Given the description of an element on the screen output the (x, y) to click on. 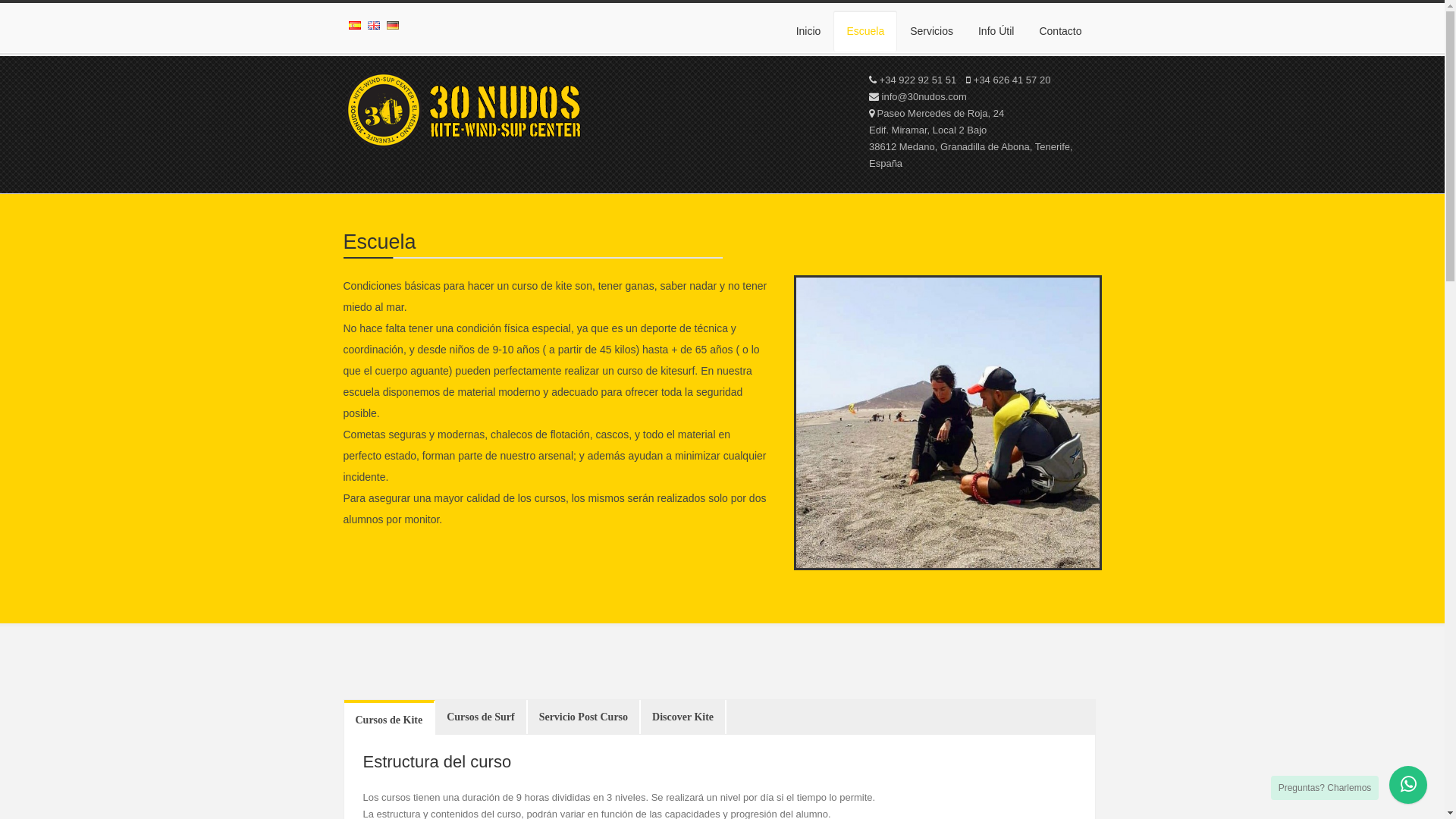
Servicios Element type: text (931, 27)
Contacto Element type: text (1059, 27)
Discover Kite Element type: text (682, 716)
Cursos de Kite Element type: text (389, 718)
Servicio Post Curso Element type: text (583, 716)
Escuela Element type: text (865, 30)
info@30nudos.com Element type: text (917, 96)
Inicio Element type: text (808, 27)
Cursos de Surf Element type: text (480, 716)
